Given the description of an element on the screen output the (x, y) to click on. 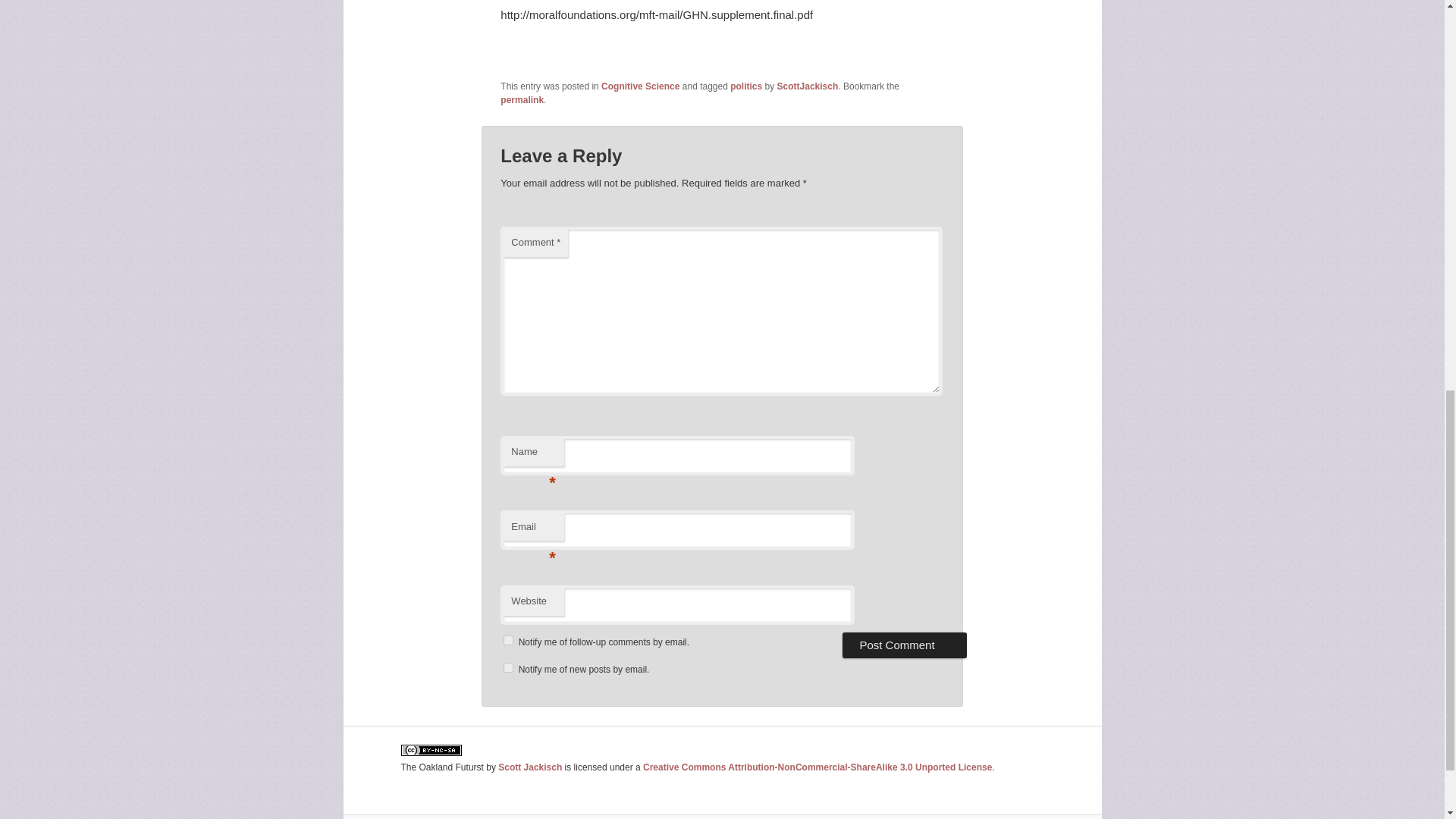
ScottJackisch (807, 86)
subscribe (508, 640)
Post Comment (904, 645)
Post Comment (904, 645)
politics (745, 86)
permalink (521, 100)
Cognitive Science (640, 86)
subscribe (508, 667)
Scott Jackisch (529, 767)
